Given the description of an element on the screen output the (x, y) to click on. 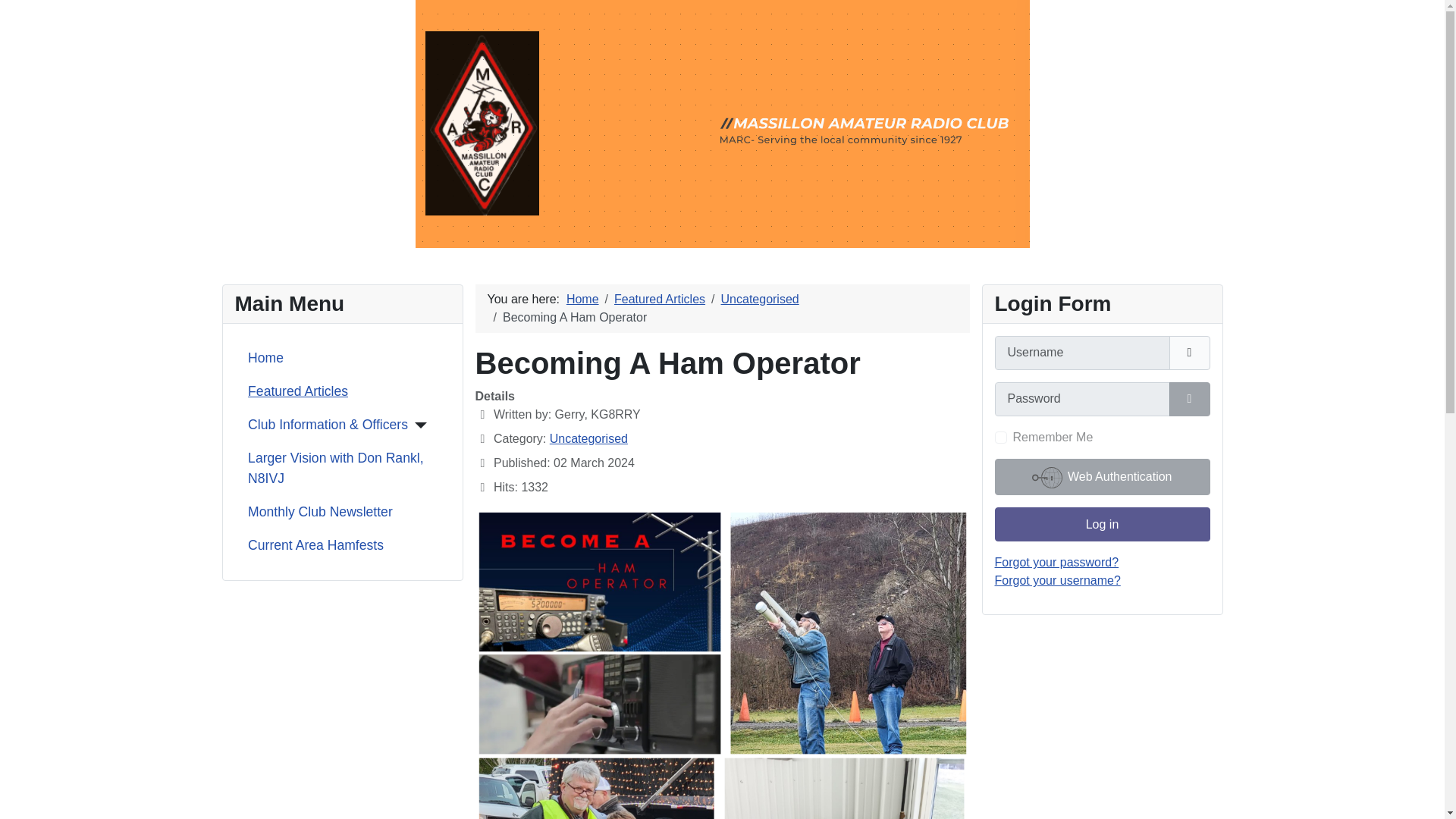
Home (582, 298)
Monthly Club Newsletter (320, 511)
Uncategorised (759, 298)
Uncategorised (588, 438)
Web Authentication (1101, 476)
Forgot your password? (1056, 562)
Current Area Hamfests (315, 545)
Username (1189, 352)
Web Authentication (1101, 476)
Featured Articles (659, 298)
yes (1000, 437)
Larger Vision with Don Rankl, N8IVJ (341, 467)
Log in (1101, 523)
Forgot your username? (1057, 580)
Featured Articles (297, 391)
